Given the description of an element on the screen output the (x, y) to click on. 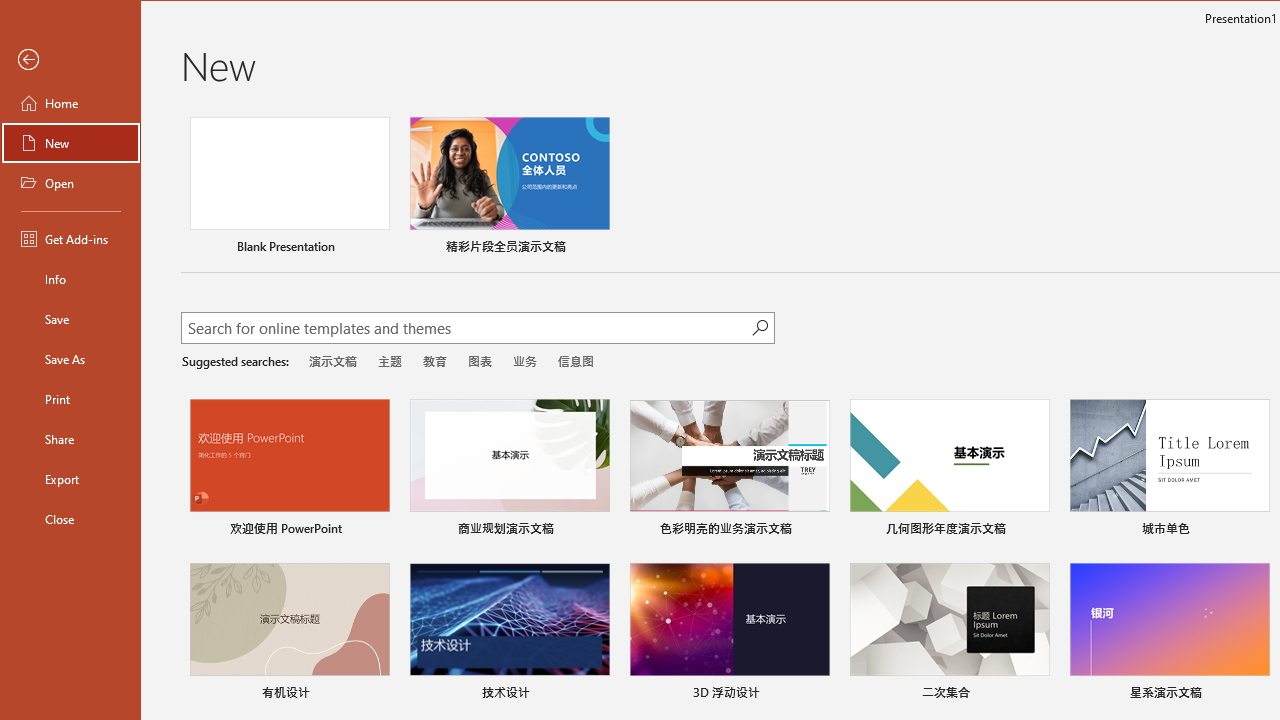
Print (70, 398)
